Given the description of an element on the screen output the (x, y) to click on. 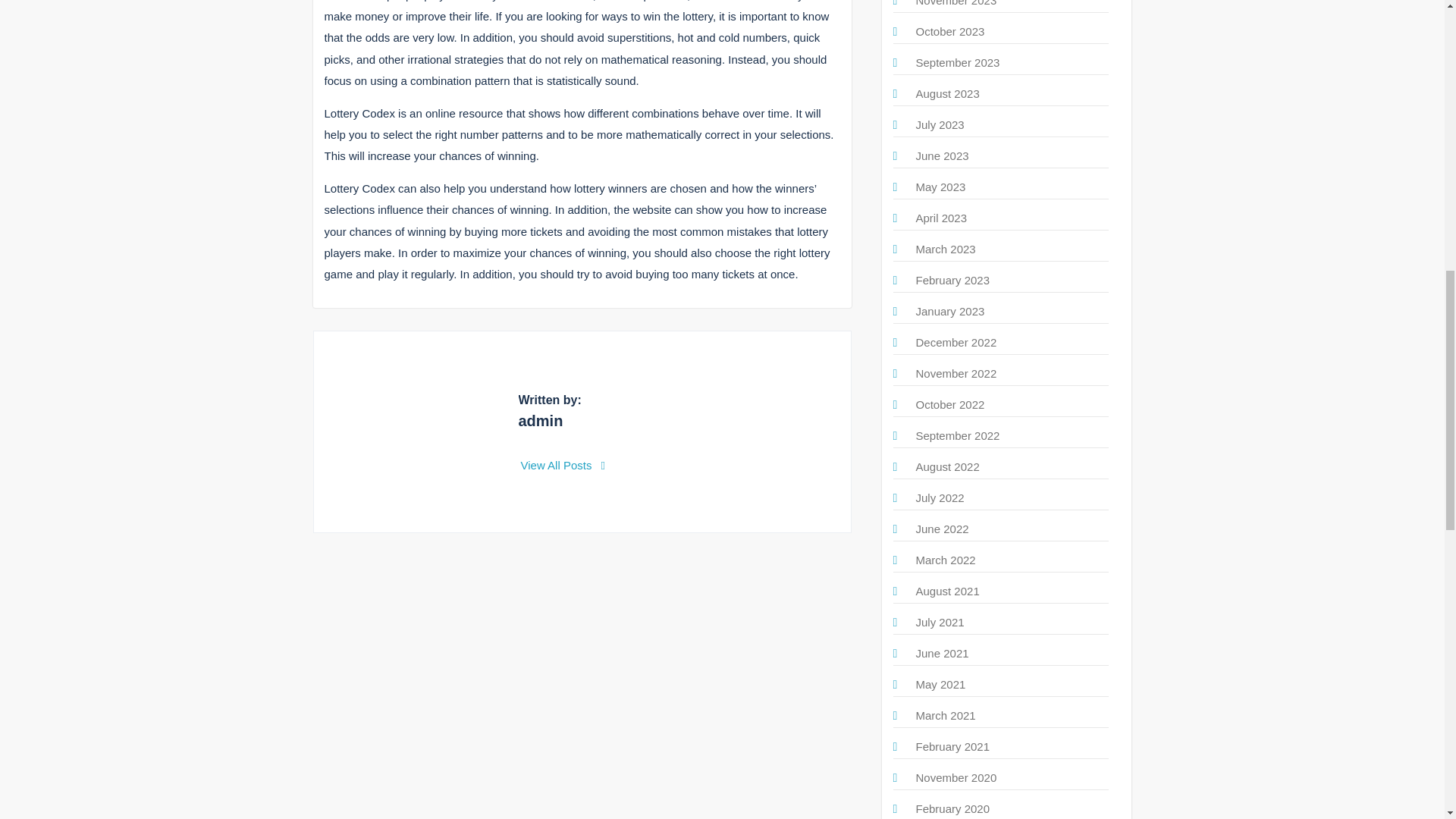
October 2023 (950, 31)
August 2023 (947, 92)
August 2022 (947, 466)
July 2022 (939, 497)
June 2023 (942, 155)
October 2022 (950, 404)
November 2022 (956, 373)
December 2022 (956, 341)
May 2023 (940, 186)
January 2023 (950, 310)
July 2023 (939, 124)
September 2022 (957, 435)
March 2022 (945, 559)
November 2023 (956, 3)
April 2023 (941, 217)
